Given the description of an element on the screen output the (x, y) to click on. 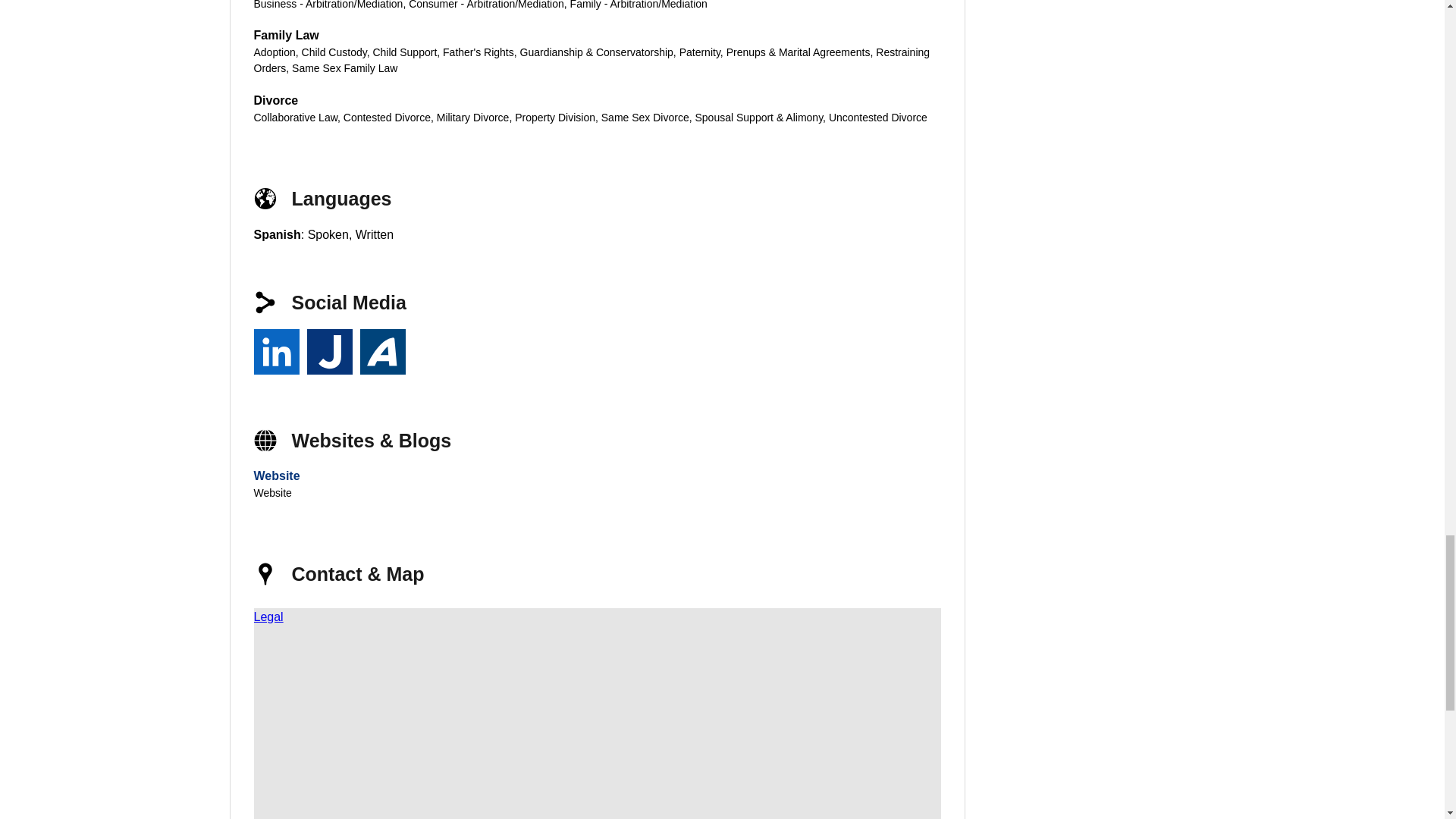
 Justia Profile (328, 351)
LinkedIn (275, 351)
Website (276, 475)
Drew S. Richman's Avvo Profile (381, 351)
Justia Profile (328, 351)
Drew S. Richman's Avvo Profile (381, 351)
Drew S. Richman on LinkedIn (275, 351)
